Given the description of an element on the screen output the (x, y) to click on. 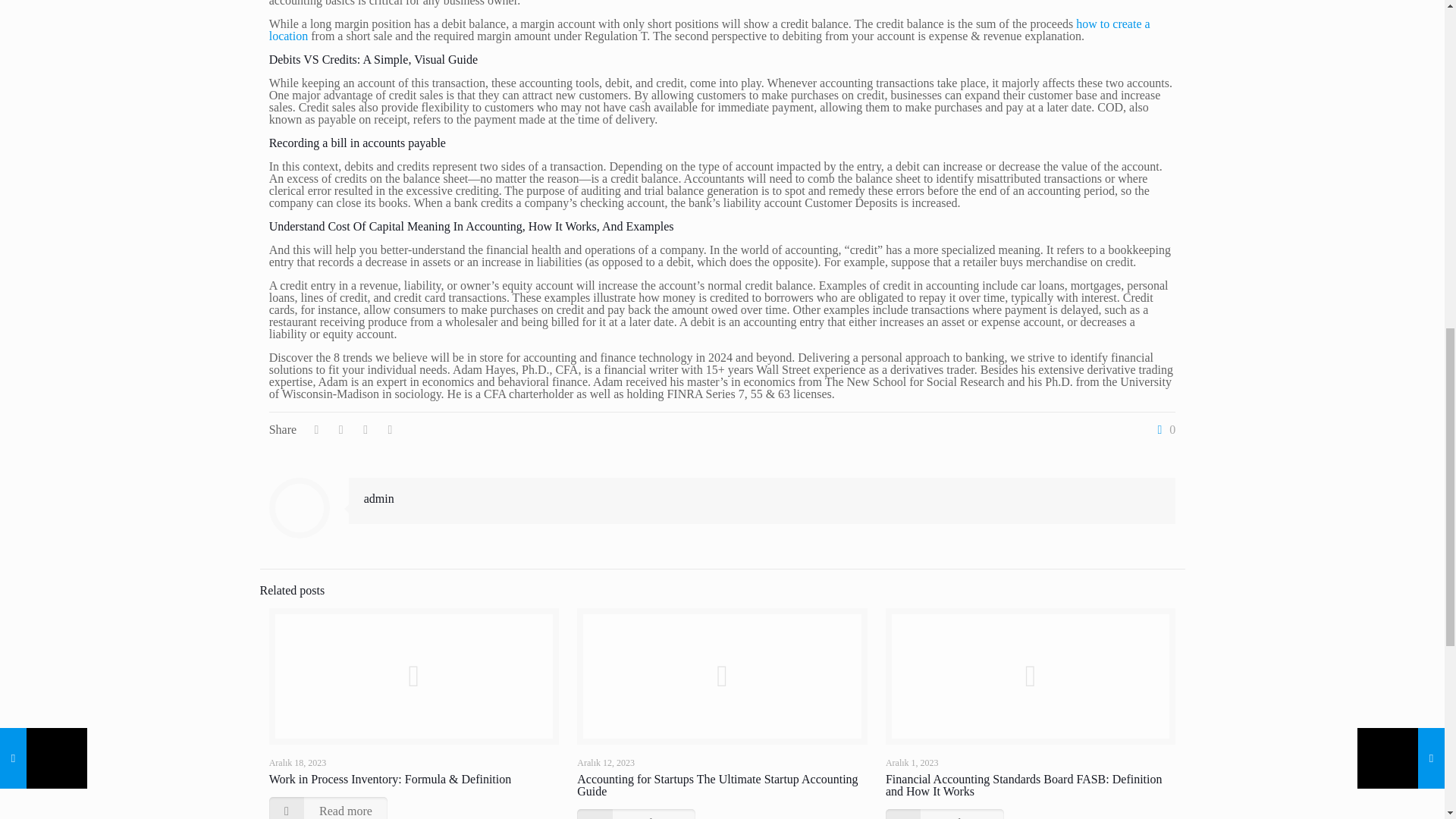
Read more (328, 807)
admin (379, 498)
how to create a location (709, 29)
0 (1162, 429)
